Given the description of an element on the screen output the (x, y) to click on. 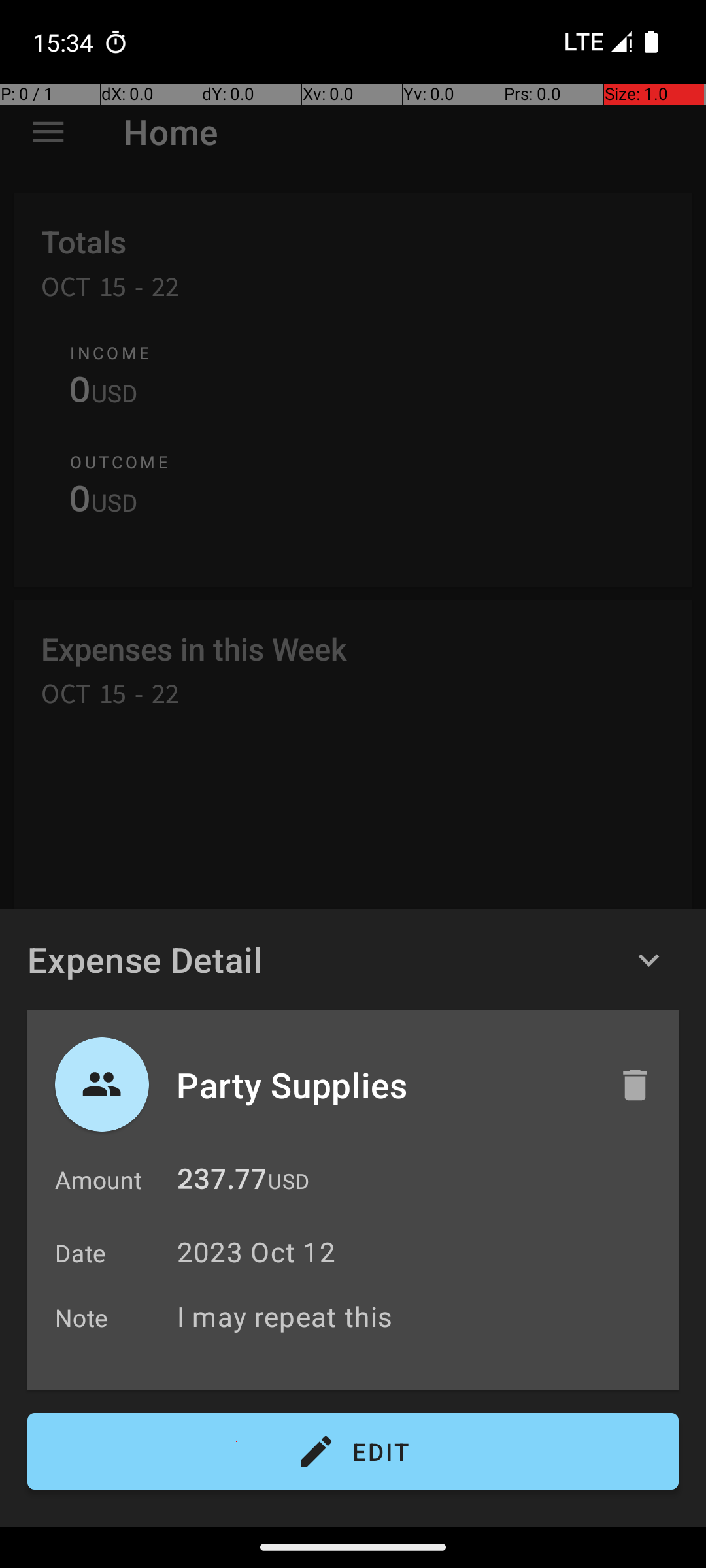
237.77 Element type: android.widget.TextView (221, 1182)
